Given the description of an element on the screen output the (x, y) to click on. 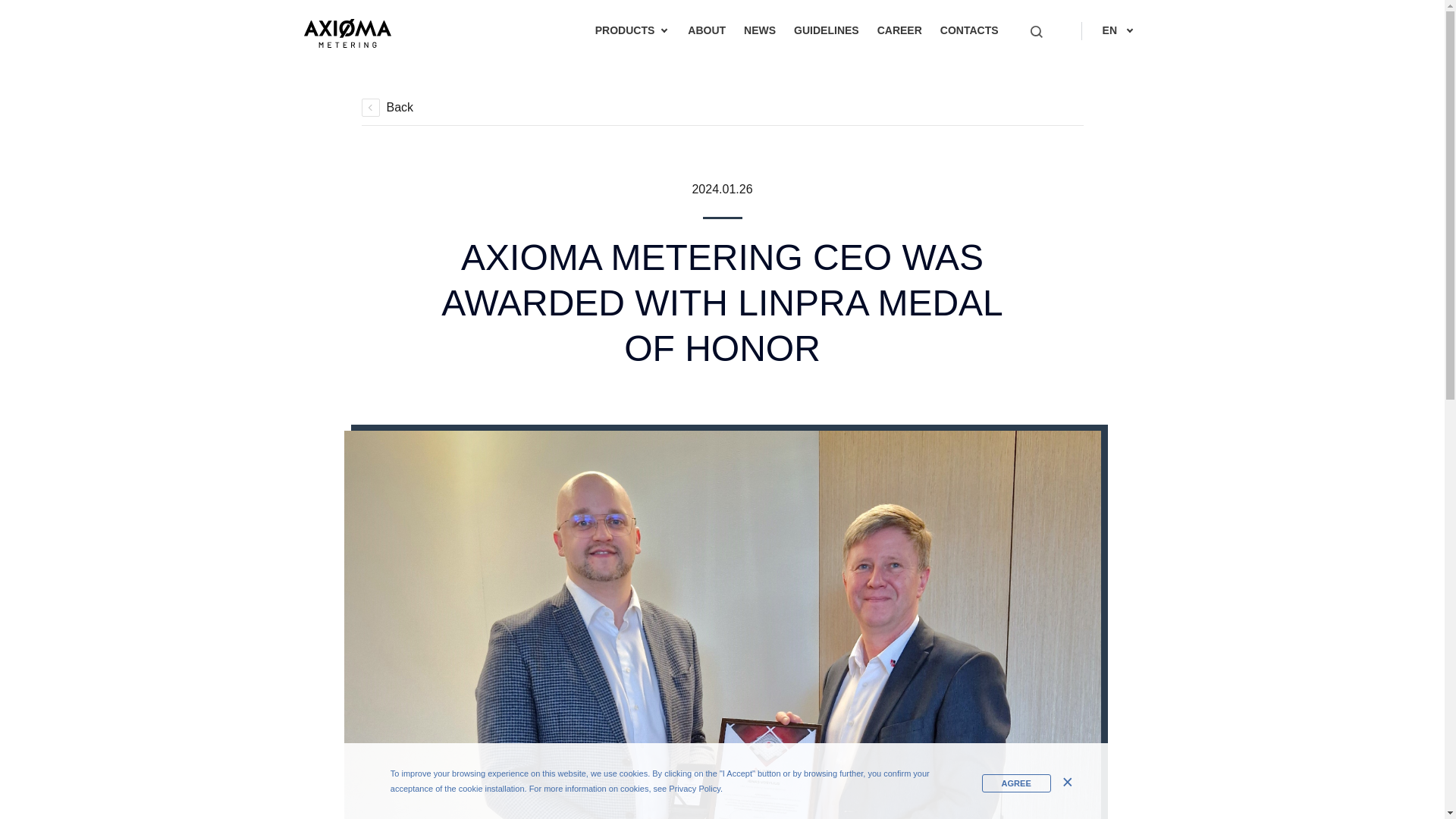
ABOUT (706, 30)
NEWS (759, 30)
CONTACTS (969, 30)
GUIDELINES (825, 30)
AGREE (1016, 782)
Privacy Policy (694, 788)
PRODUCTS (624, 30)
CAREER (899, 30)
